Given the description of an element on the screen output the (x, y) to click on. 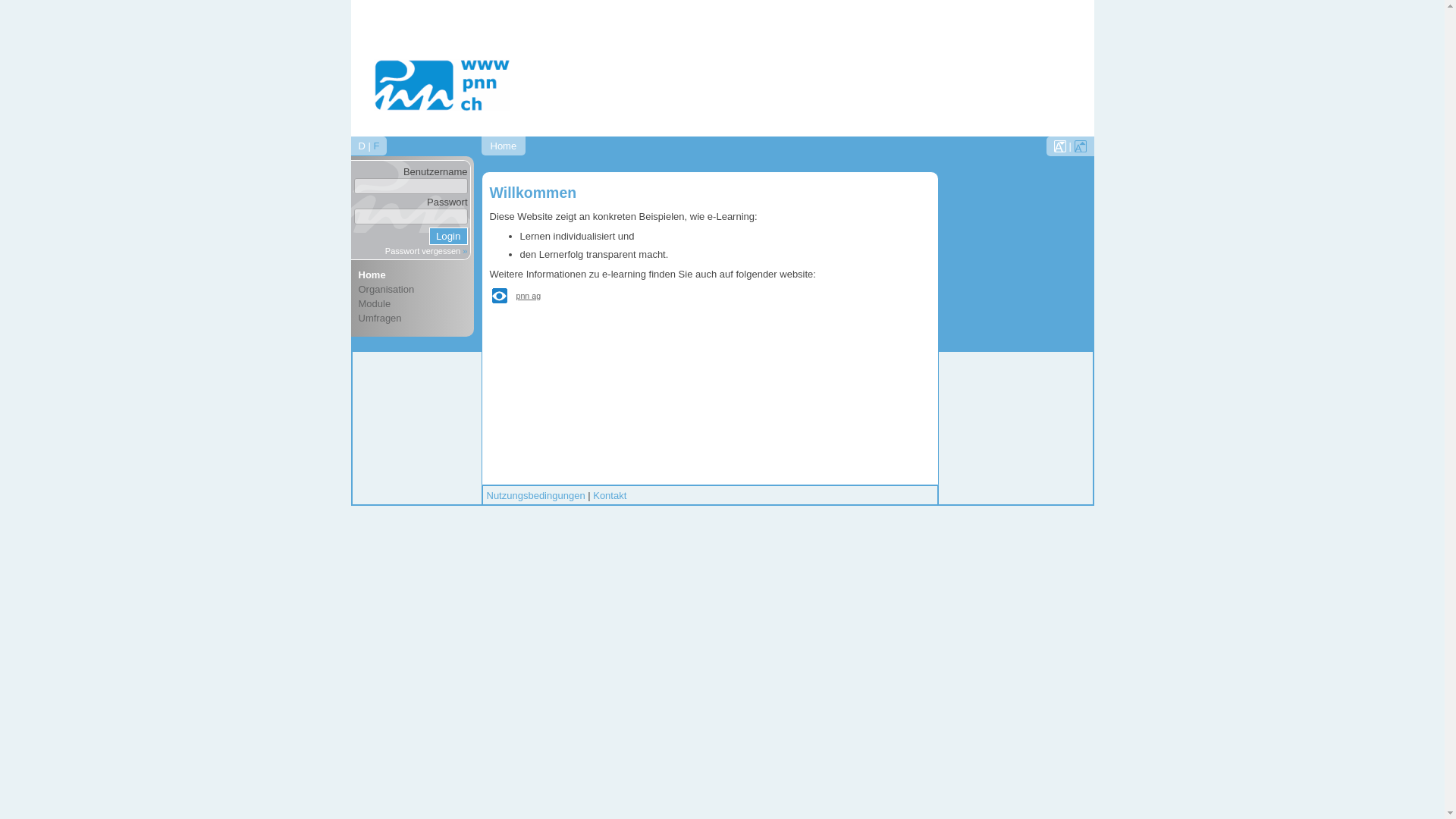
Umfragen Element type: text (413, 317)
pnn ag Element type: text (527, 295)
D Element type: text (360, 145)
Nutzungsbedingungen Element type: text (535, 495)
Kontakt Element type: text (609, 495)
grosse schrift Element type: hover (1079, 145)
F Element type: text (376, 145)
Module Element type: text (413, 303)
Login Element type: text (448, 235)
Organisation Element type: text (413, 289)
Standard Element type: hover (1060, 145)
Home Element type: text (413, 274)
